Given the description of an element on the screen output the (x, y) to click on. 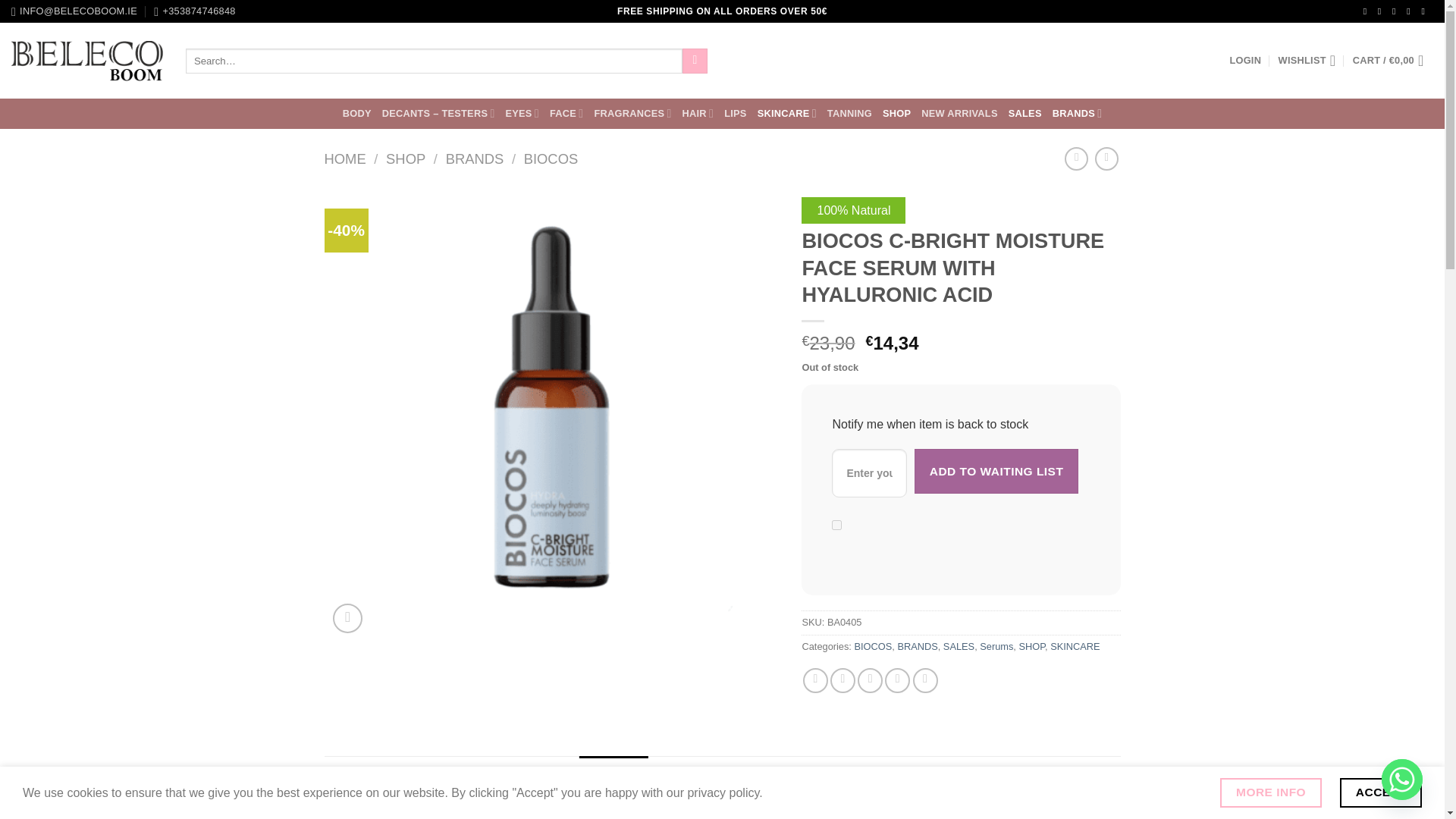
Zoom (347, 618)
Search (694, 61)
FACE (566, 112)
Cart (1392, 60)
Add to waiting list (996, 470)
Login (1244, 60)
WISHLIST (1307, 60)
yes (836, 524)
HAIR (698, 112)
Wishlist (1307, 60)
FRAGRANCES (632, 112)
EYES (521, 112)
BODY (356, 113)
LOGIN (1244, 60)
